Given the description of an element on the screen output the (x, y) to click on. 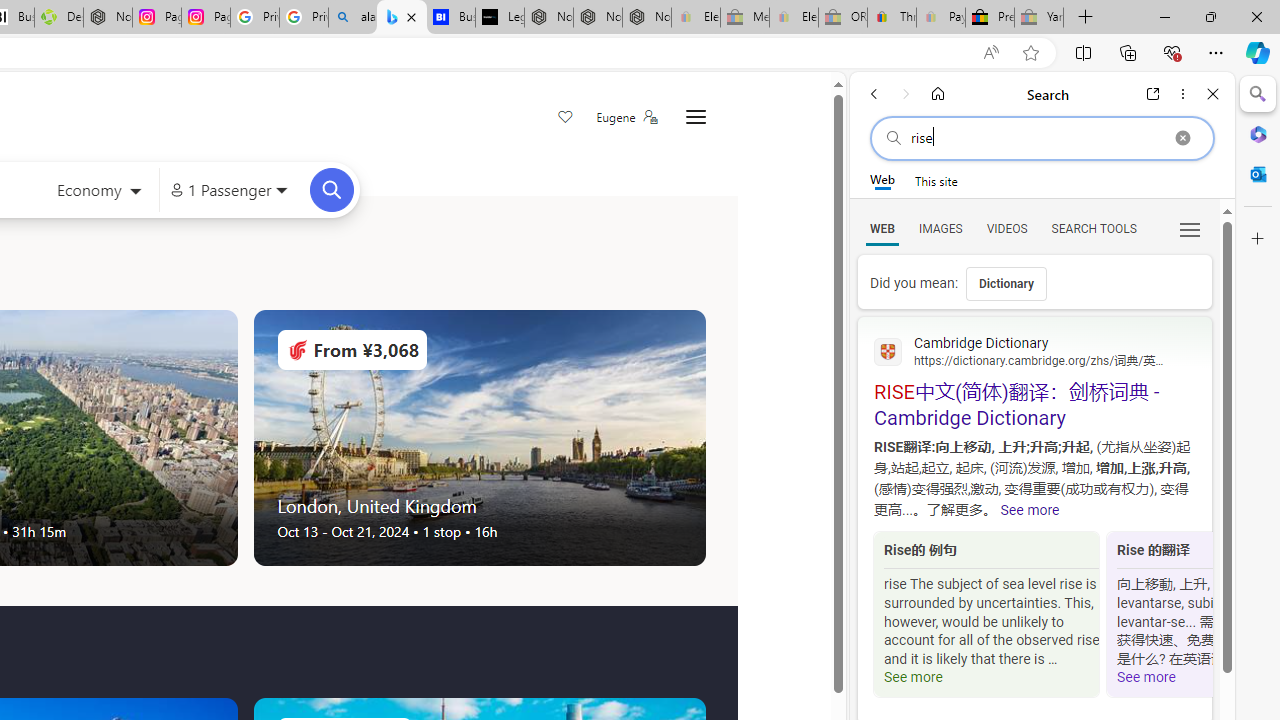
Descarga Driver Updater (58, 17)
Yard, Garden & Outdoor Living - Sleeping (1039, 17)
Select class of service (98, 192)
Eugene (626, 117)
Payments Terms of Use | eBay.com - Sleeping (940, 17)
Save (565, 118)
